Given the description of an element on the screen output the (x, y) to click on. 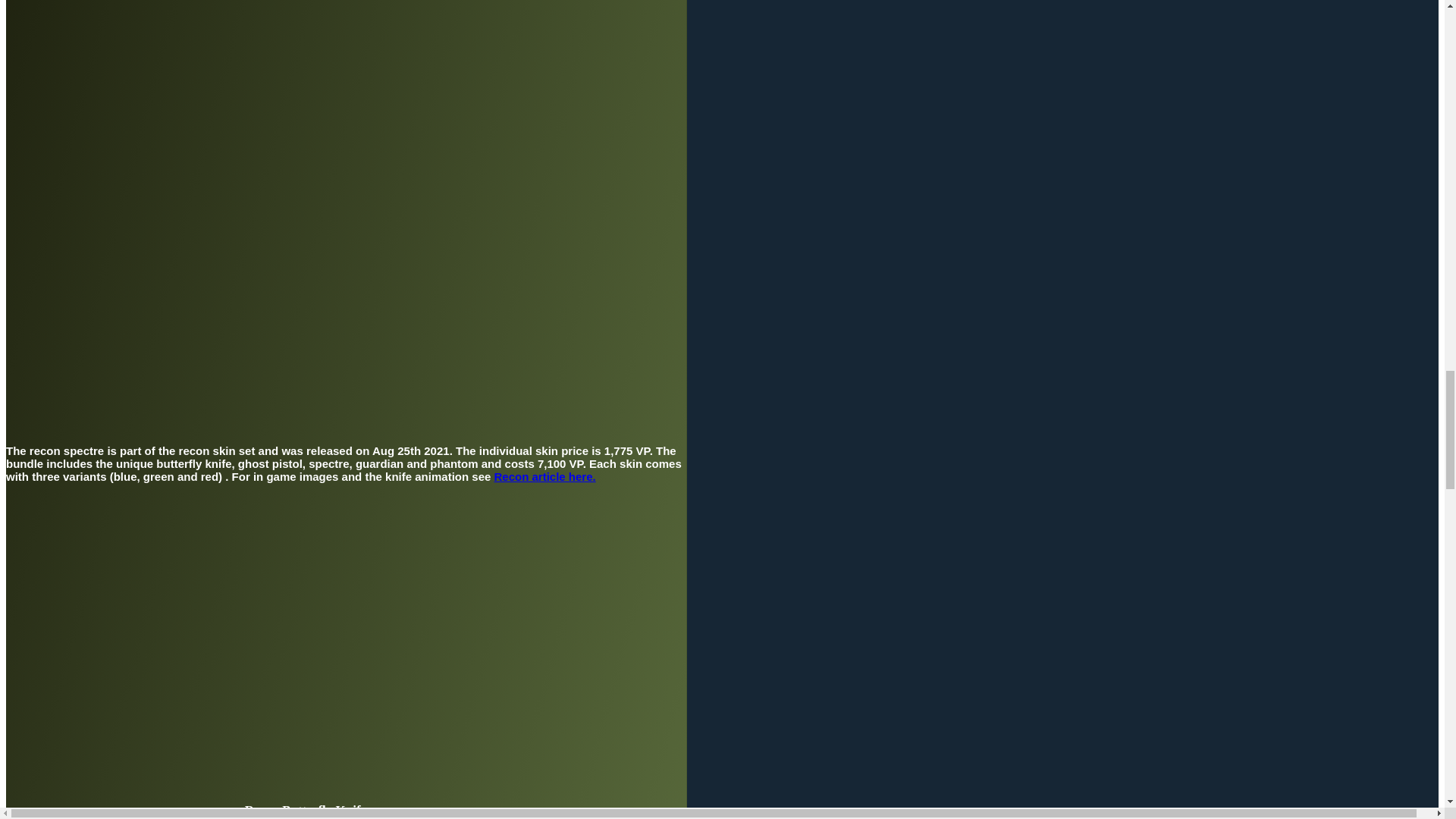
Recon article here. (544, 476)
